Given the description of an element on the screen output the (x, y) to click on. 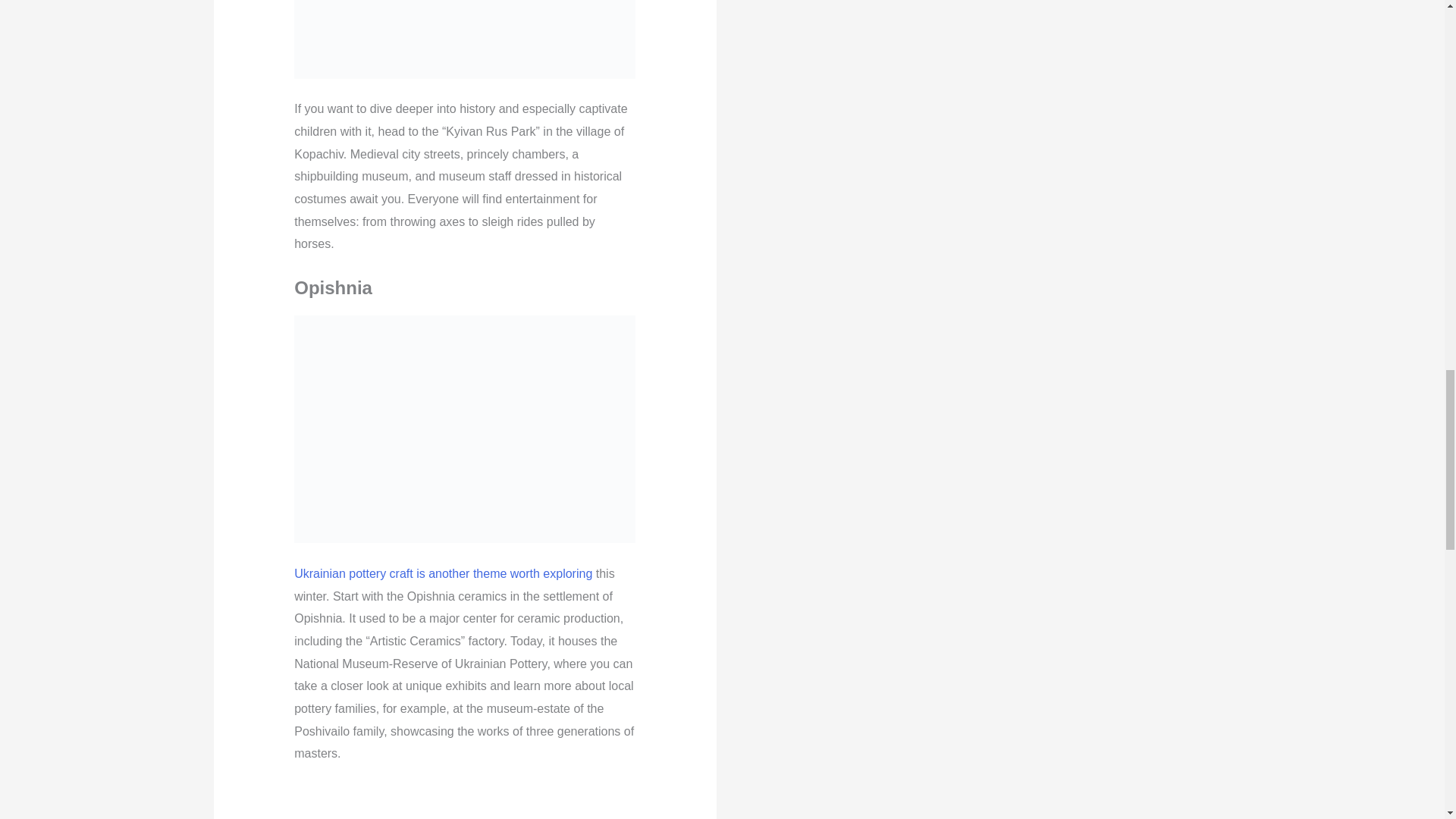
Ukrainian pottery craft is another theme worth exploring (443, 573)
